Given the description of an element on the screen output the (x, y) to click on. 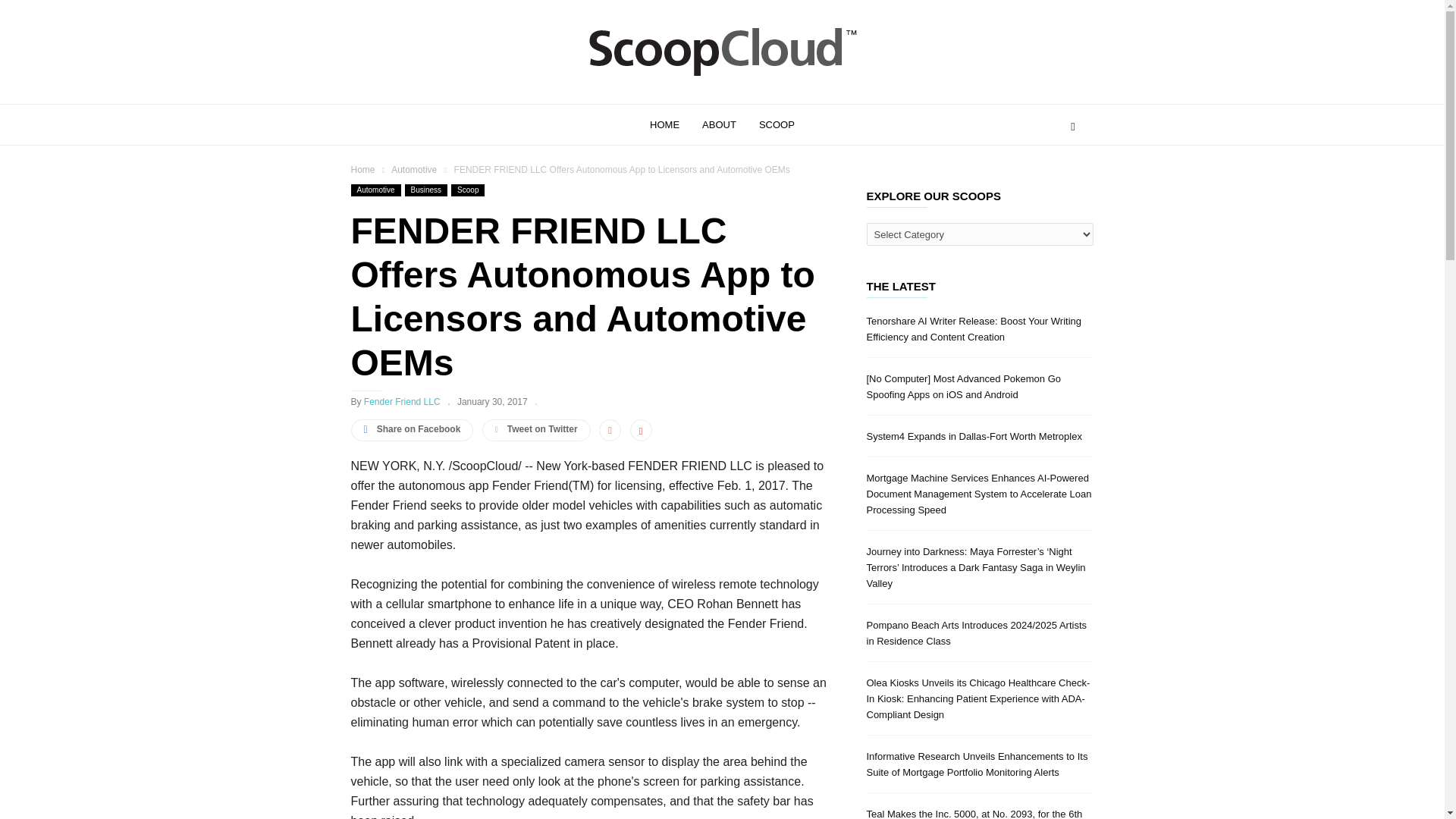
Fender Friend LLC (402, 401)
Tweet on Twitter (536, 430)
Share on Facebook (411, 430)
ABOUT (729, 124)
HOME (675, 124)
Automotive (415, 169)
ScoopCloud (722, 79)
View all posts in Automotive (415, 169)
Business (426, 190)
Home (363, 169)
